Given the description of an element on the screen output the (x, y) to click on. 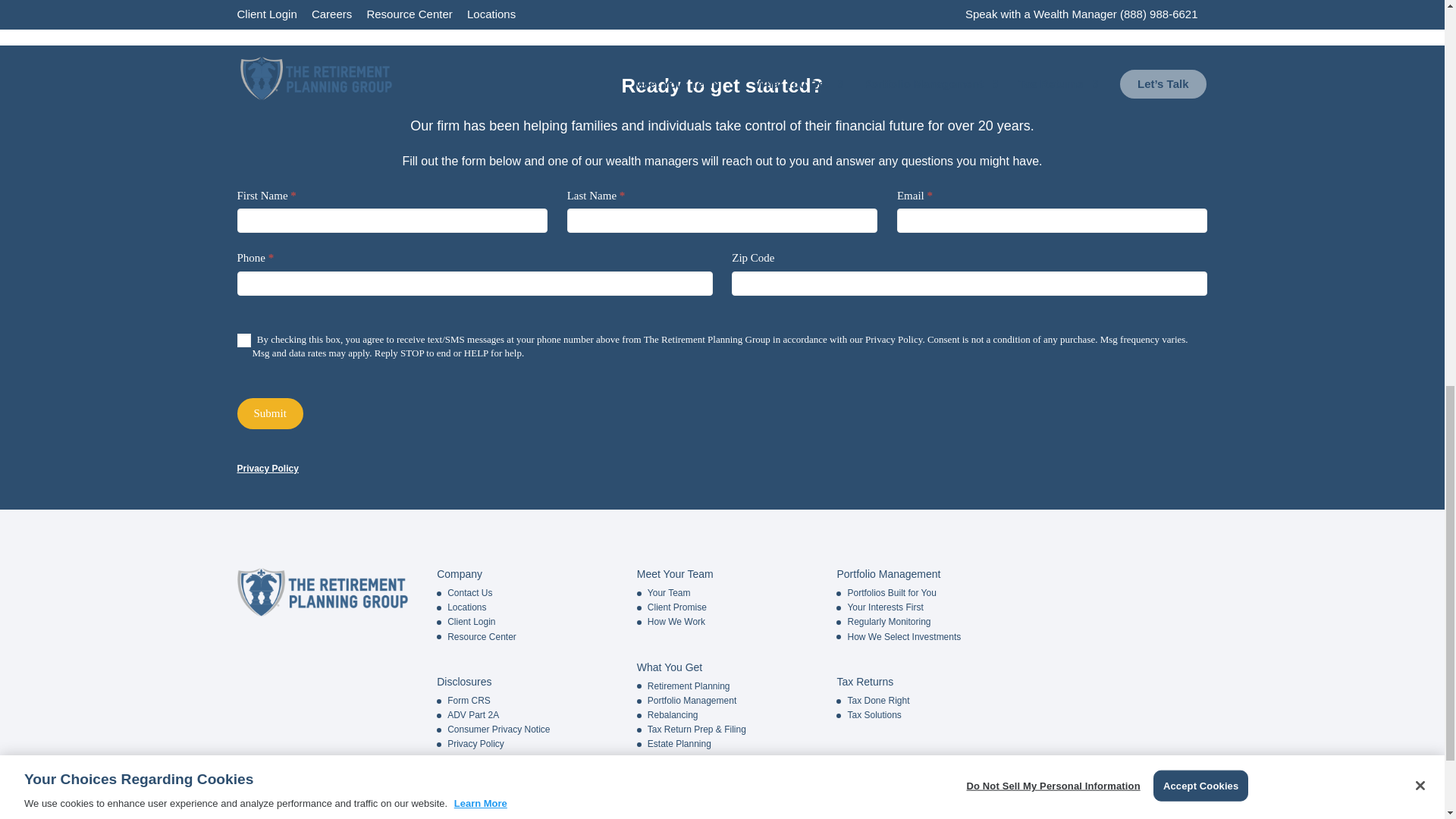
The Retirement Planning Group (321, 592)
TRUE (242, 340)
